Given the description of an element on the screen output the (x, y) to click on. 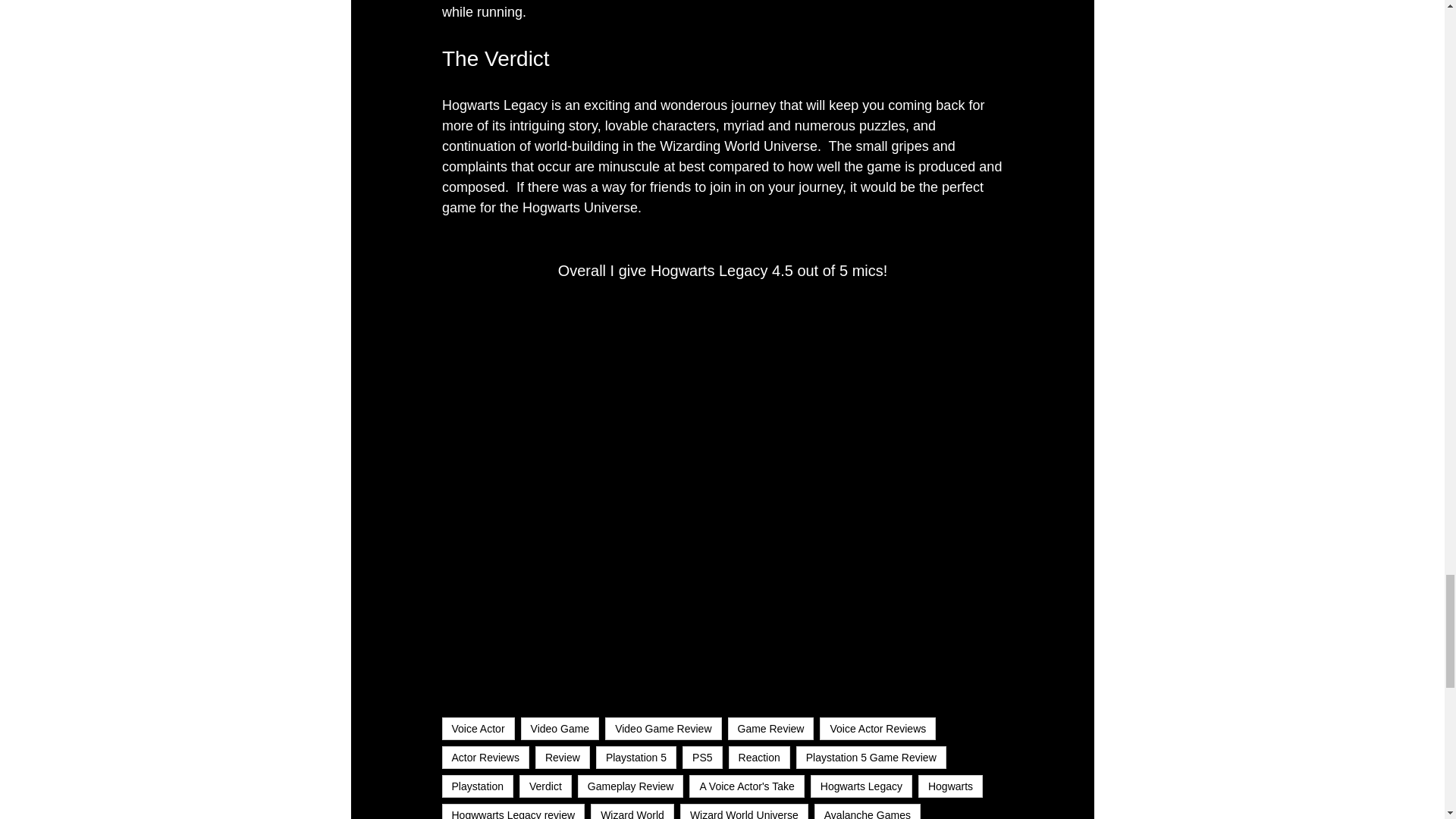
Playstation 5 Game Review (871, 757)
Video Game Review (662, 728)
Review (562, 757)
Video Game (560, 728)
Voice Actor (477, 728)
Playstation 5 (636, 757)
Game Review (770, 728)
Avalanche Games (866, 811)
Verdict (545, 785)
Actor Reviews (484, 757)
Wizard World Universe (743, 811)
Voice Actor Reviews (877, 728)
Gameplay Review (631, 785)
Reaction (759, 757)
A Voice Actor's Take (745, 785)
